Given the description of an element on the screen output the (x, y) to click on. 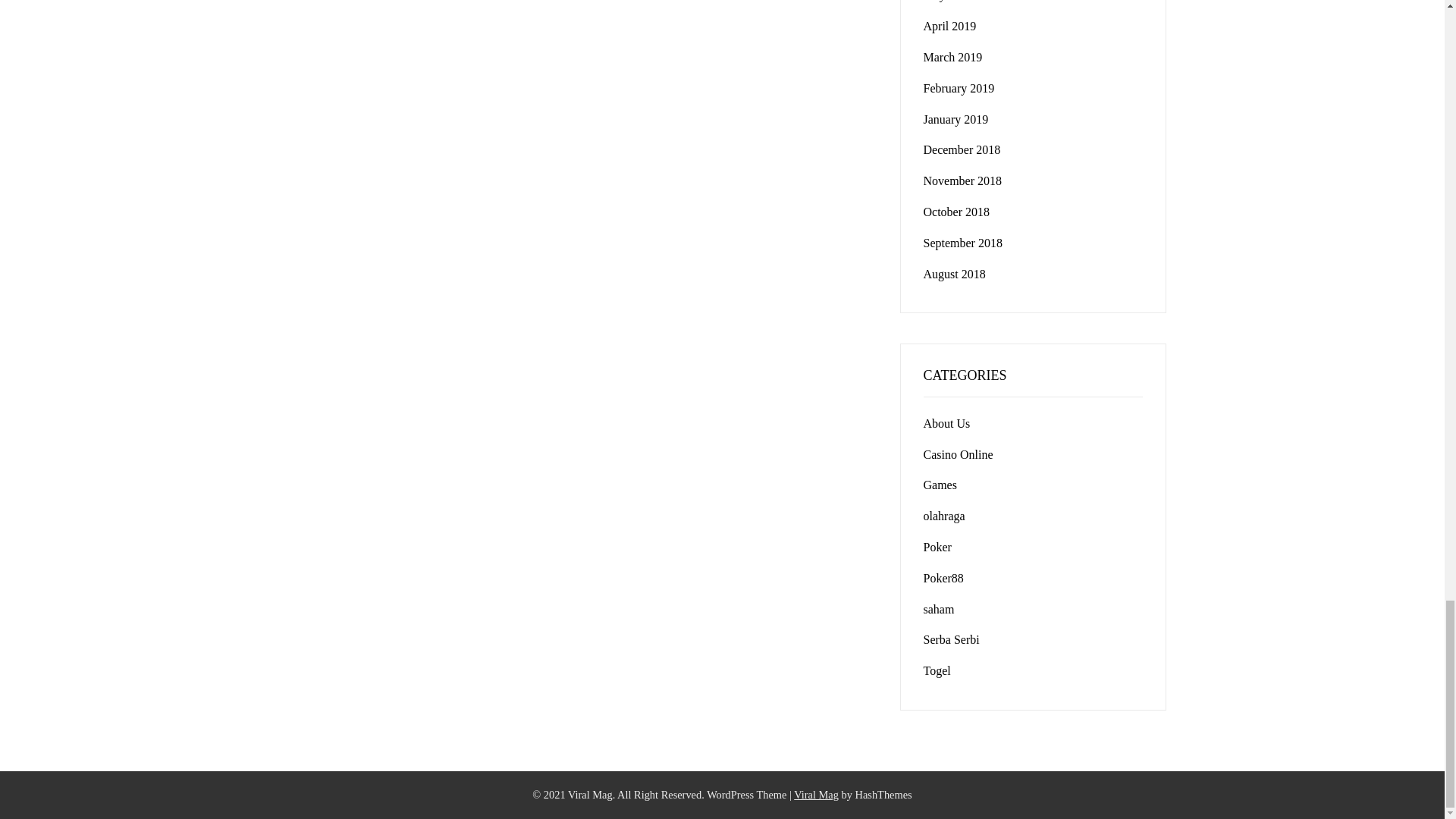
Download Viral News (815, 794)
